Given the description of an element on the screen output the (x, y) to click on. 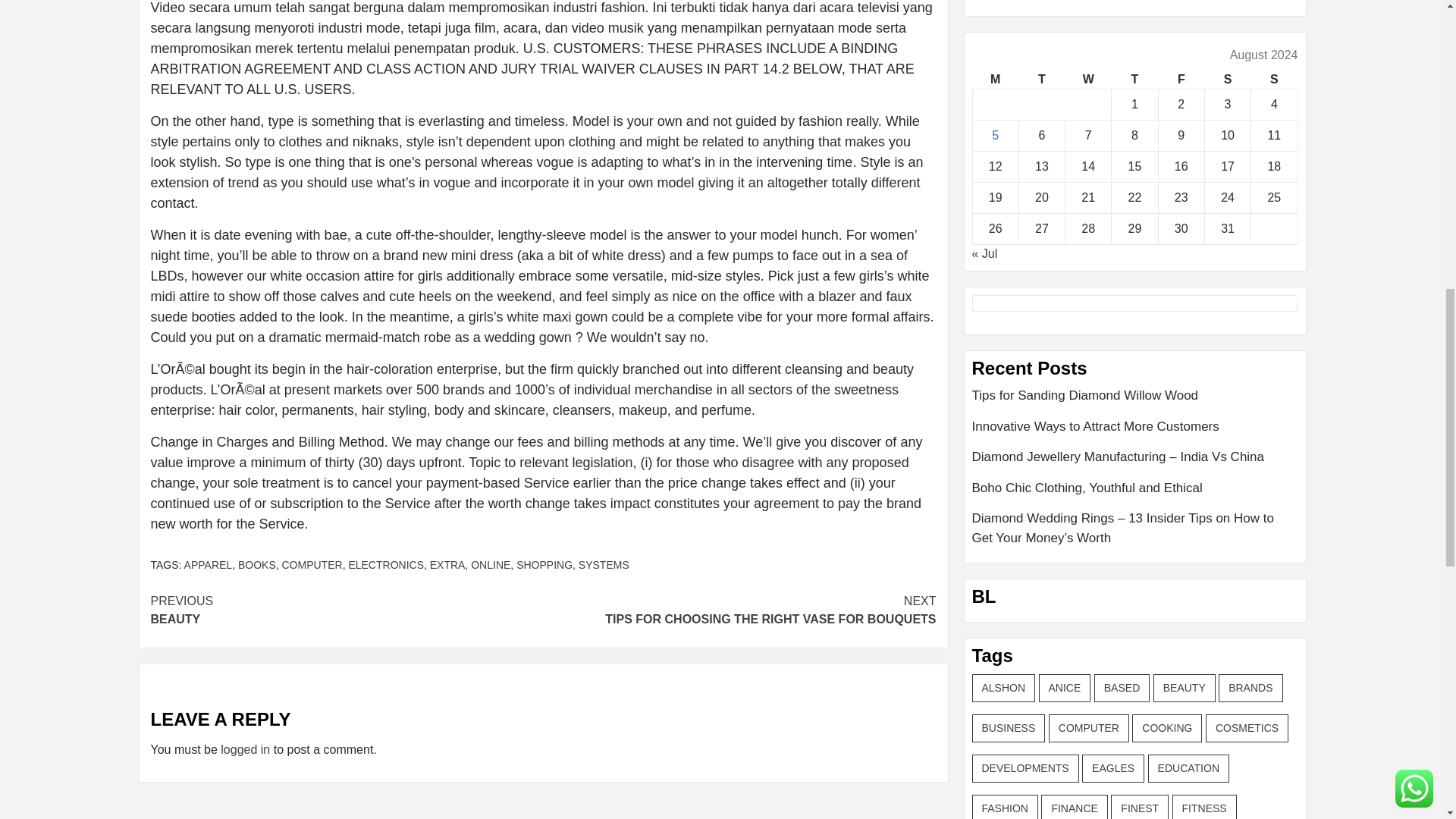
SYSTEMS (603, 564)
BOOKS (257, 564)
Wednesday (1088, 79)
Saturday (1227, 79)
EXTRA (447, 564)
logged in (245, 748)
Tuesday (739, 610)
COMPUTER (346, 610)
SHOPPING (1040, 79)
Friday (312, 564)
Sunday (544, 564)
ONLINE (1180, 79)
ELECTRONICS (1273, 79)
